Given the description of an element on the screen output the (x, y) to click on. 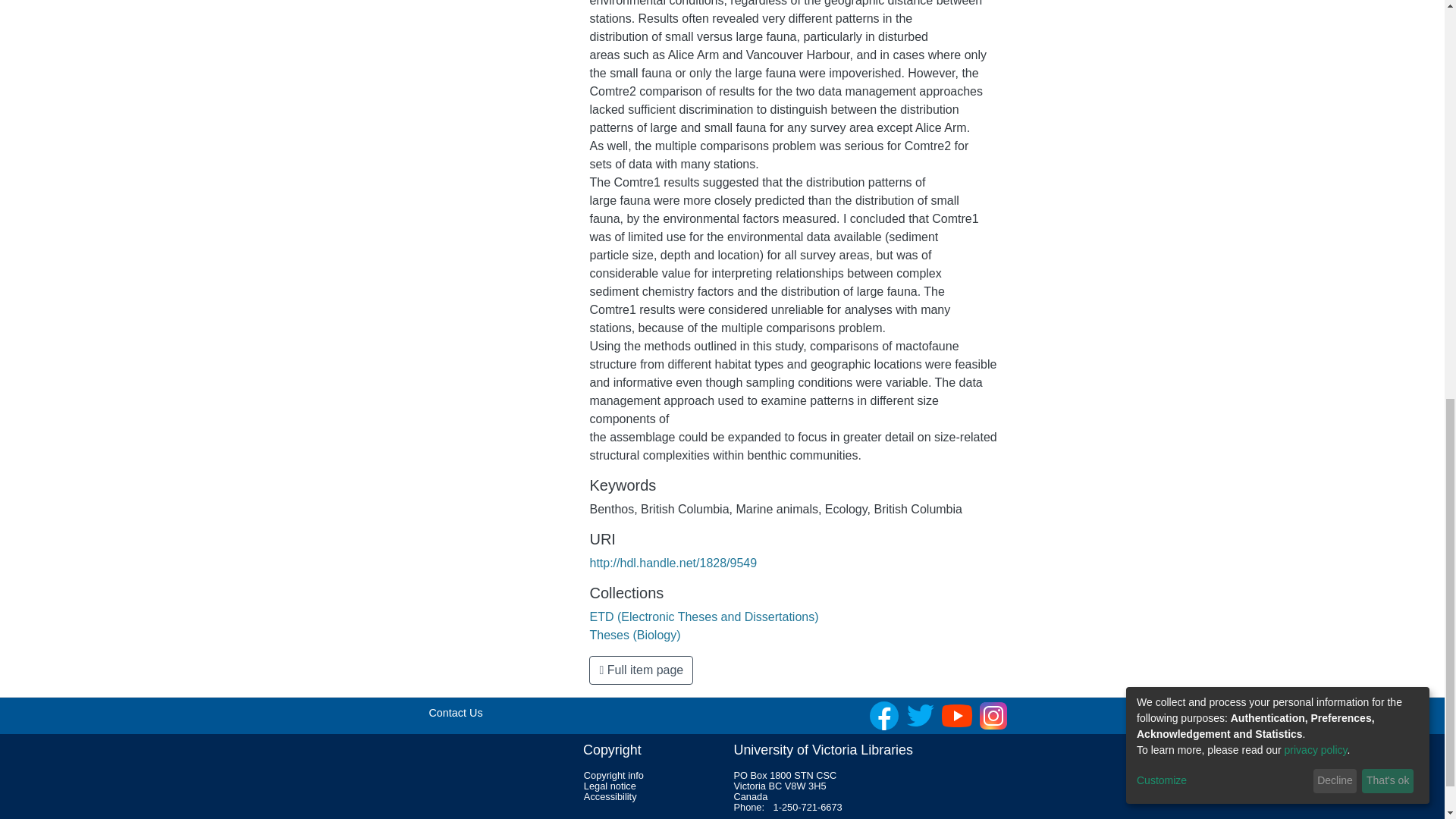
Contact Us (454, 712)
Full item page (641, 670)
